Given the description of an element on the screen output the (x, y) to click on. 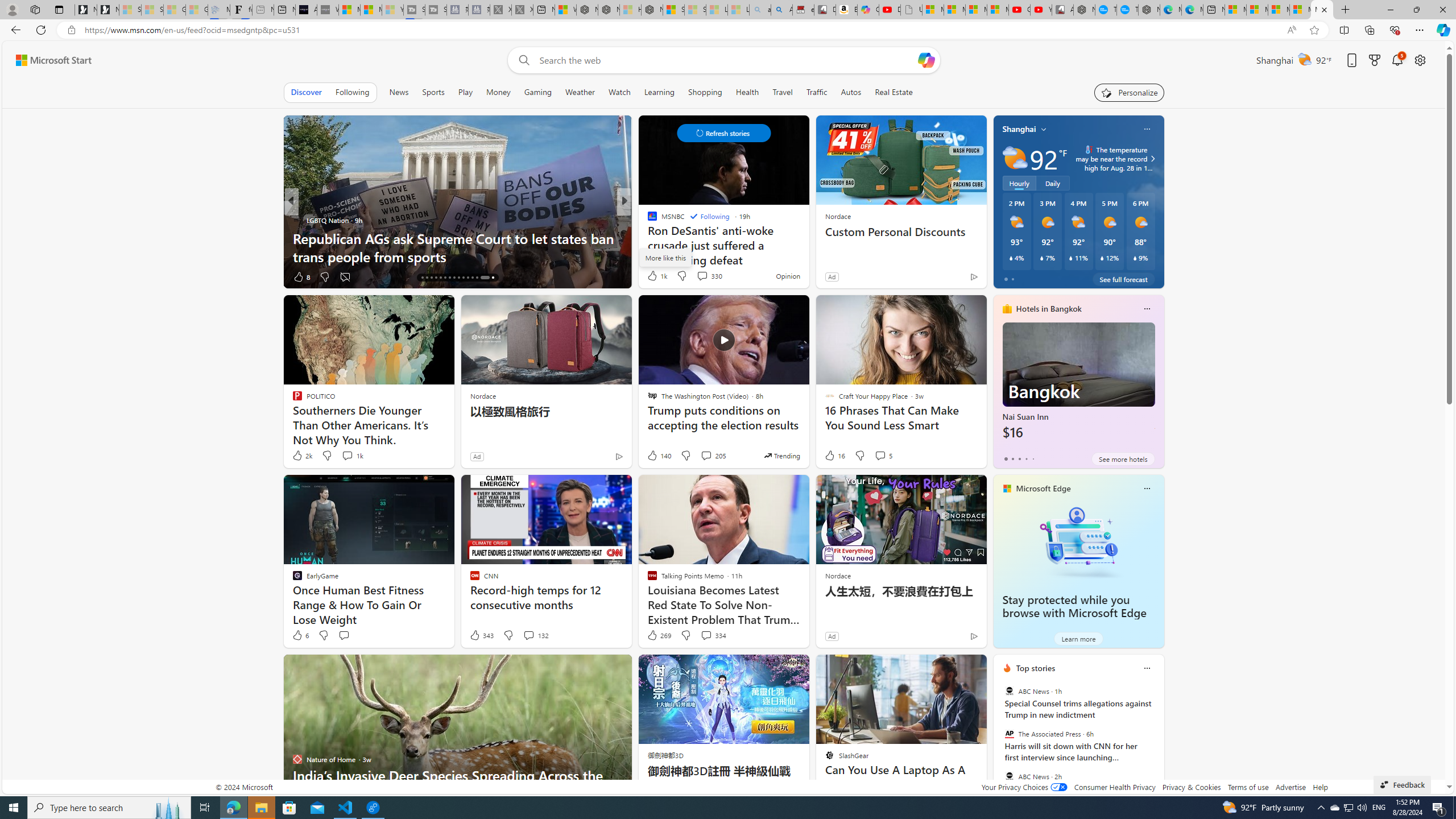
Class: weather-arrow-glyph (1152, 158)
343 Like (480, 634)
Learn more (1078, 638)
AutomationID: tab-25 (462, 277)
Nai Suan Inn (1077, 385)
8 Like (301, 276)
